Given the description of an element on the screen output the (x, y) to click on. 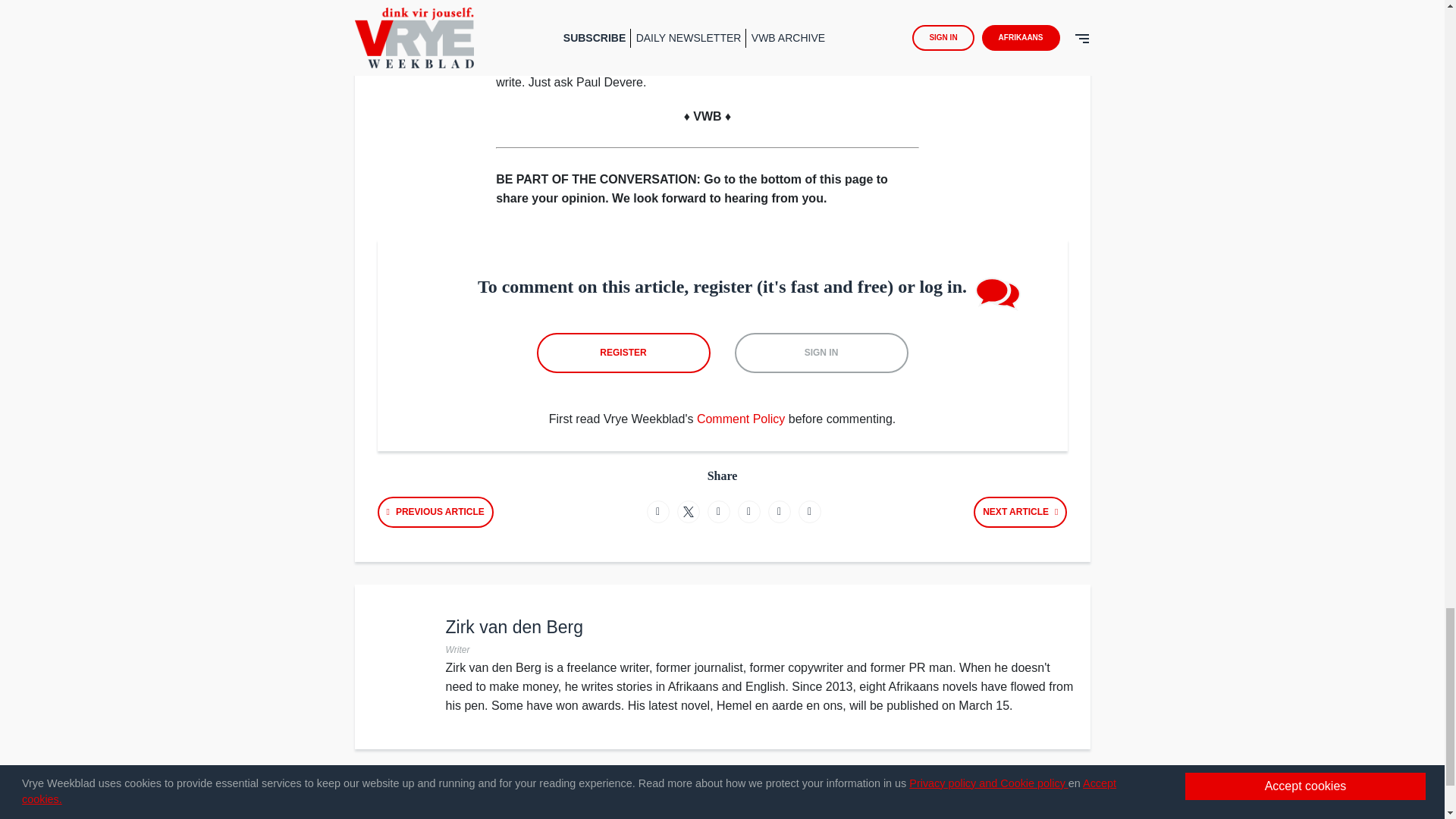
Courts are not the forum for this debate (1020, 511)
Landmines on the road to a coalition government (435, 511)
